Given the description of an element on the screen output the (x, y) to click on. 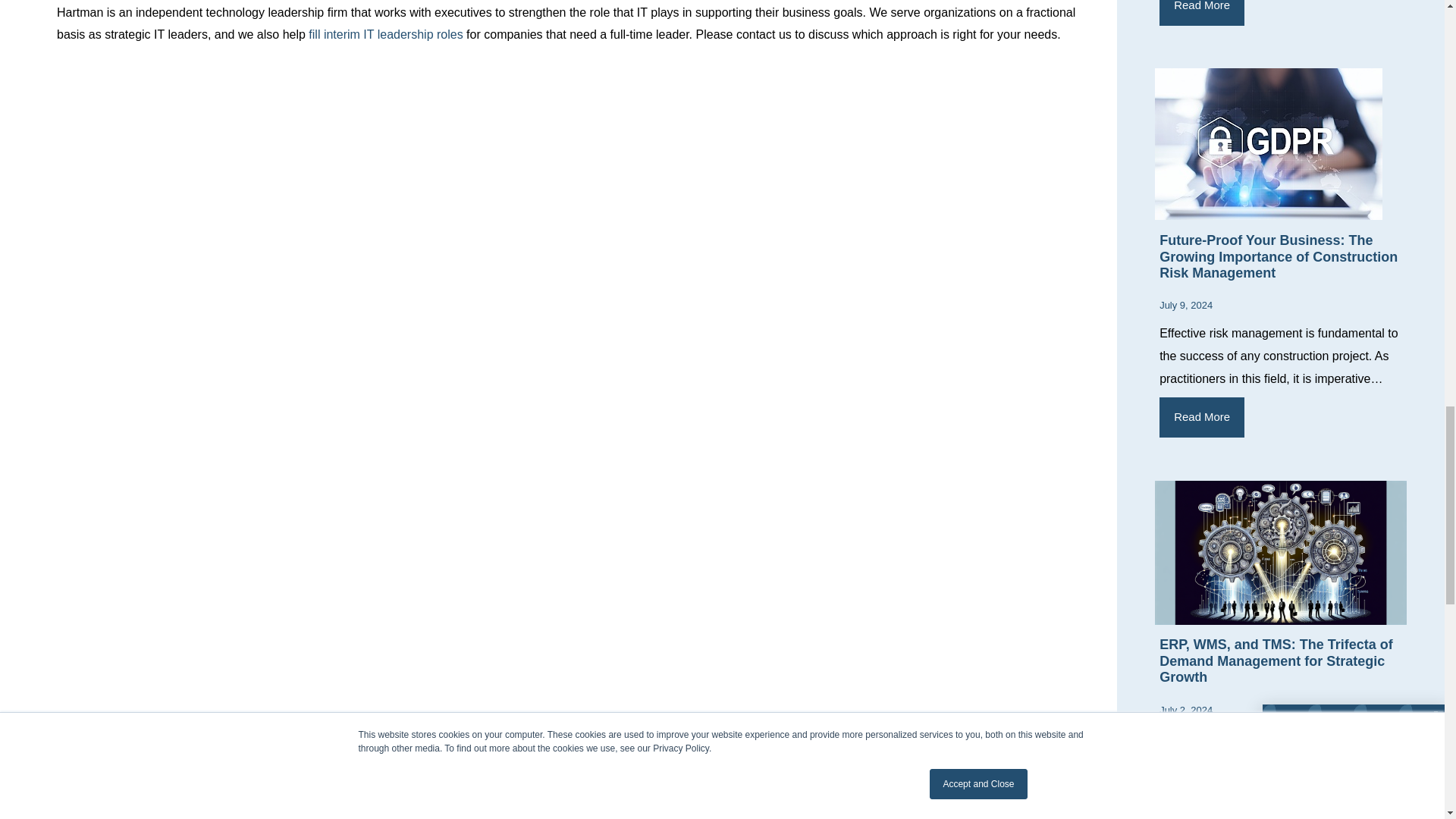
July 9, 2024 (1185, 305)
Read More (1201, 12)
July 2, 2024 (1185, 709)
fill interim IT leadership roles (385, 33)
Read More (1201, 417)
